Given the description of an element on the screen output the (x, y) to click on. 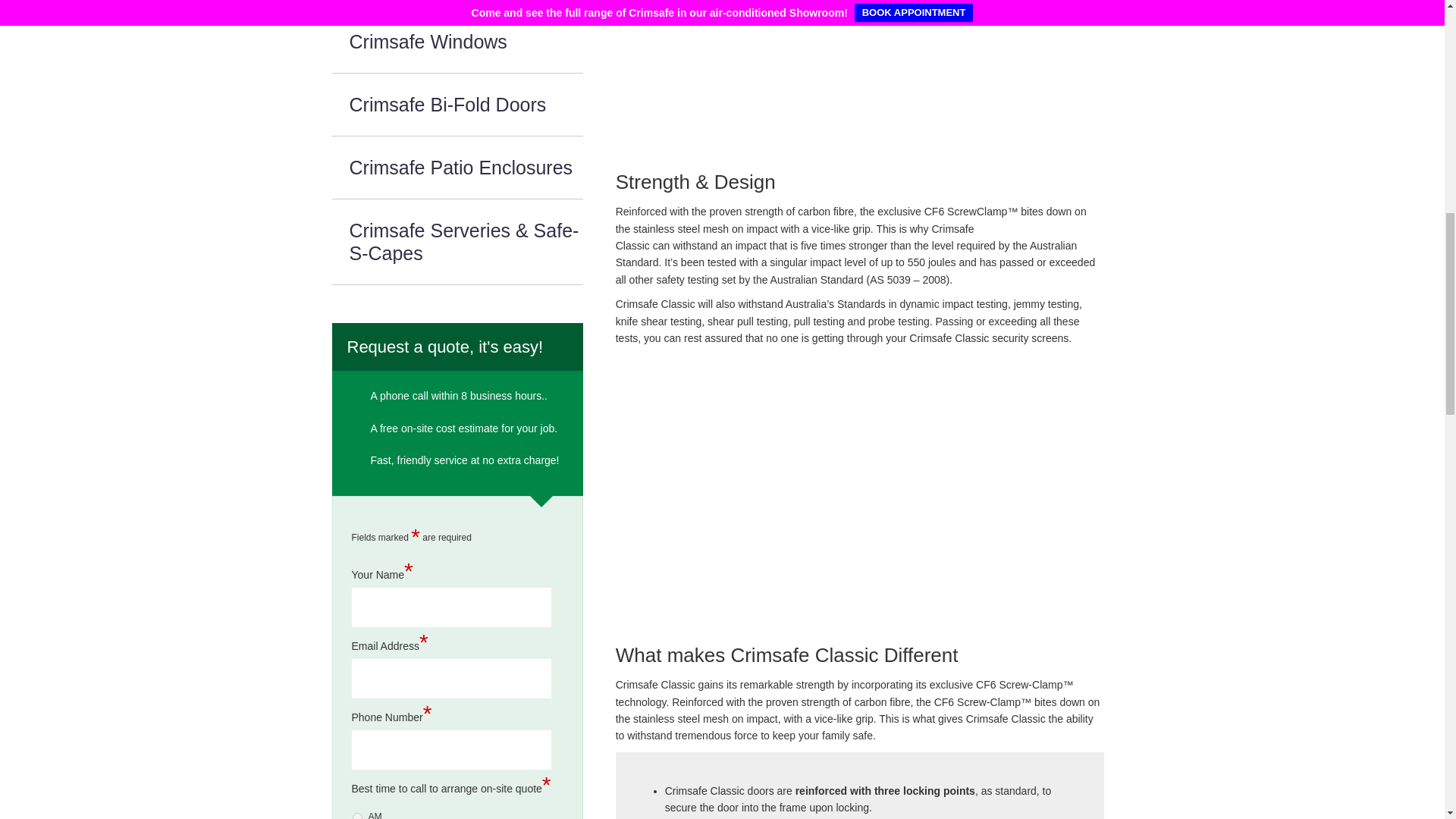
AM (356, 816)
